Given the description of an element on the screen output the (x, y) to click on. 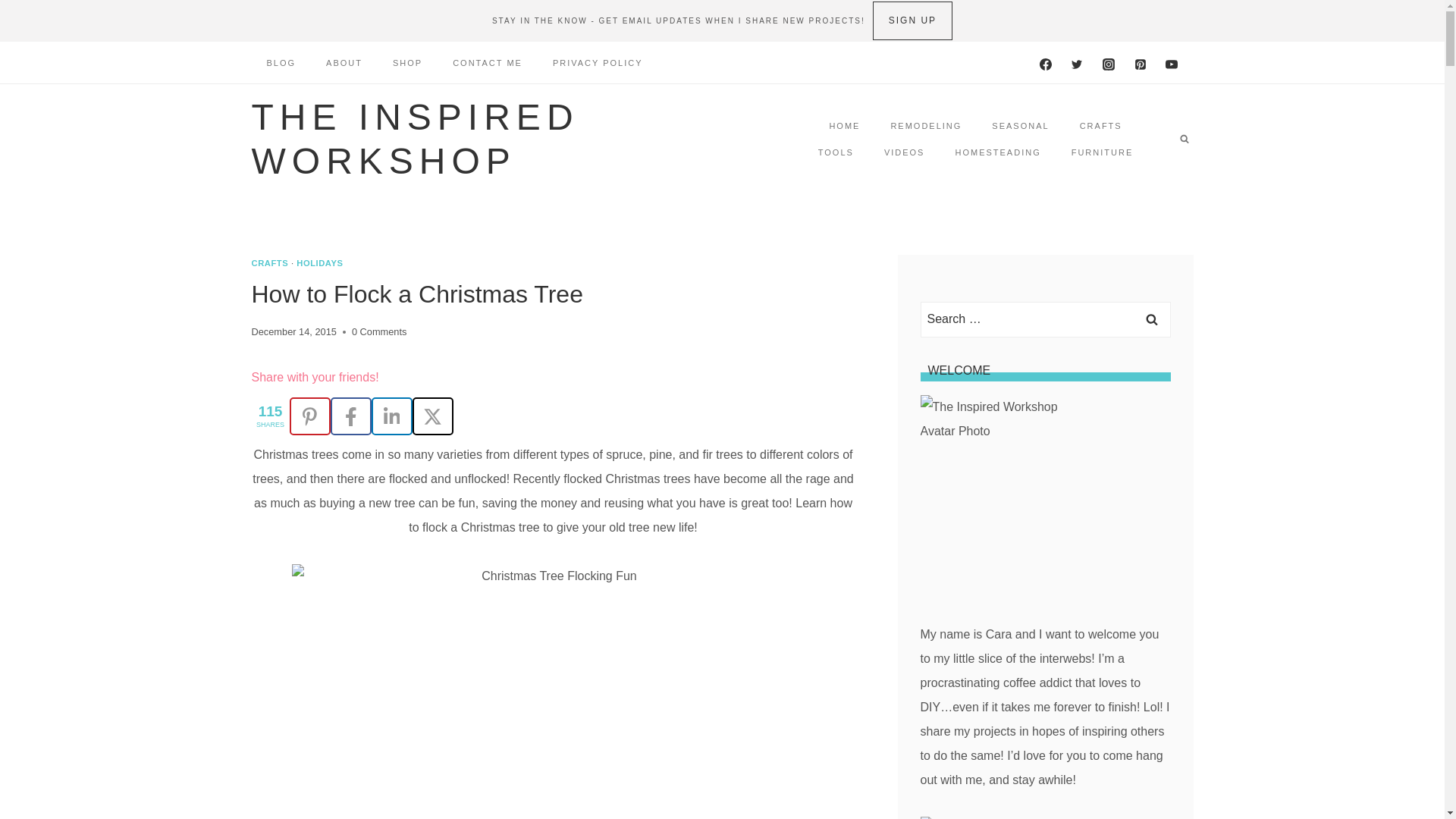
REMODELING (925, 125)
VIDEOS (904, 152)
0 Comments (379, 332)
Search (1151, 319)
HOLIDAYS (319, 262)
HOME (844, 125)
HOMESTEADING (997, 152)
SHOP (407, 62)
FURNITURE (1102, 152)
SIGN UP (912, 20)
